Given the description of an element on the screen output the (x, y) to click on. 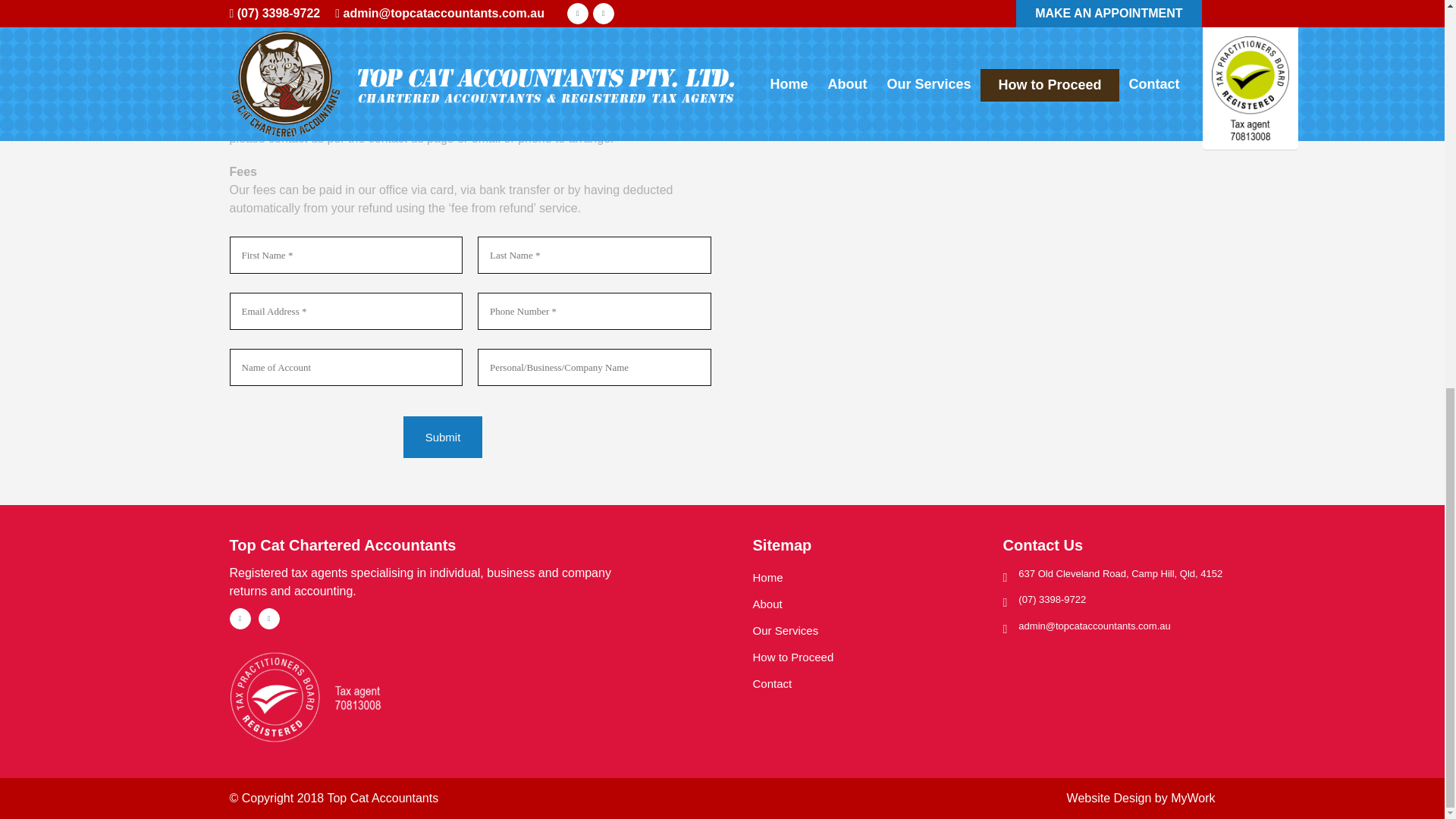
About (863, 603)
Submit (443, 436)
Contact (863, 683)
MyWork (1192, 797)
Home (863, 577)
Submit (443, 436)
How to Proceed (863, 656)
Our Services (863, 630)
Top Cat Accountants (382, 797)
